Given the description of an element on the screen output the (x, y) to click on. 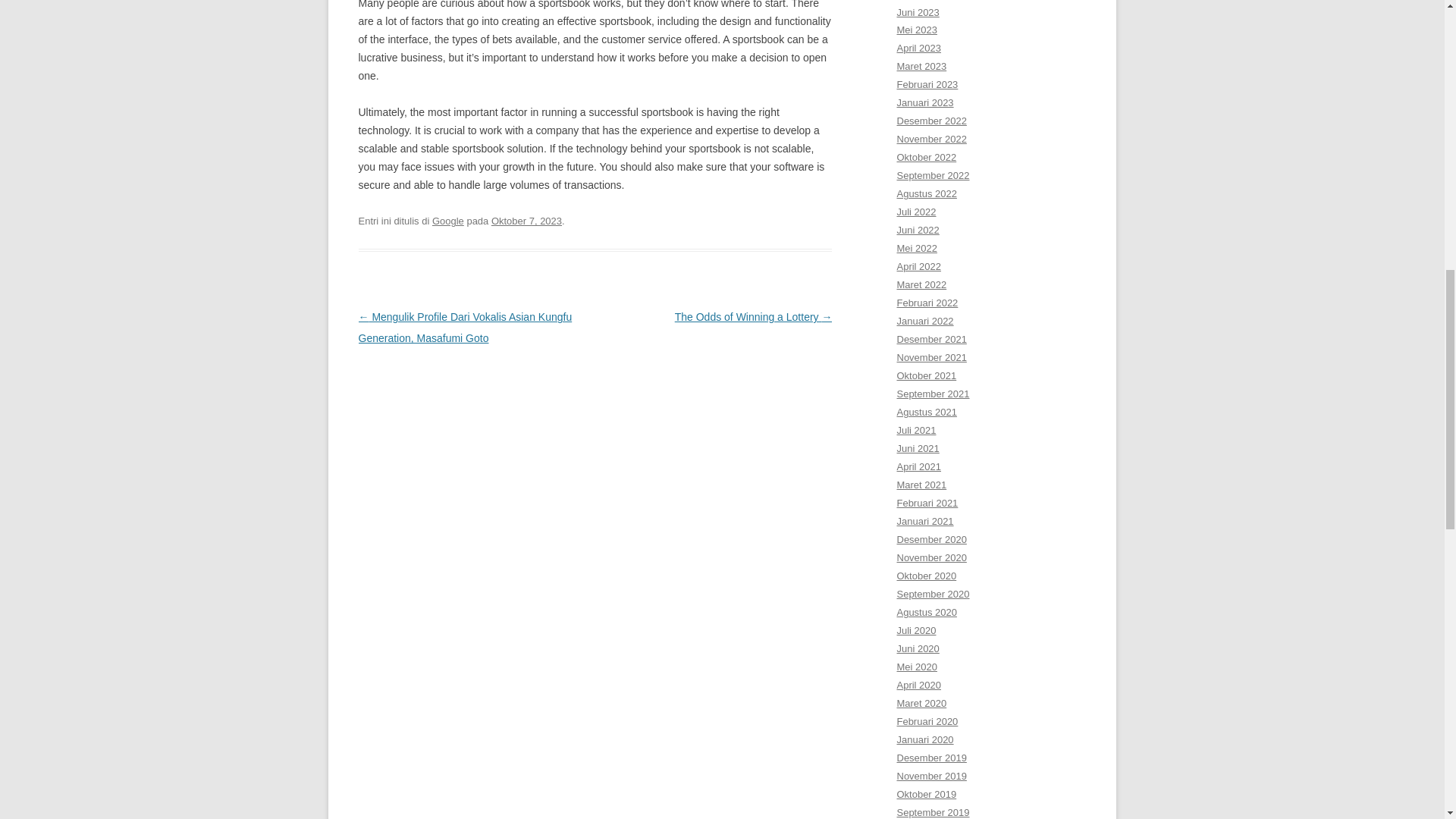
Juni 2023 (917, 11)
Google (448, 220)
4:32 am (527, 220)
Oktober 7, 2023 (527, 220)
Mei 2023 (916, 30)
